Given the description of an element on the screen output the (x, y) to click on. 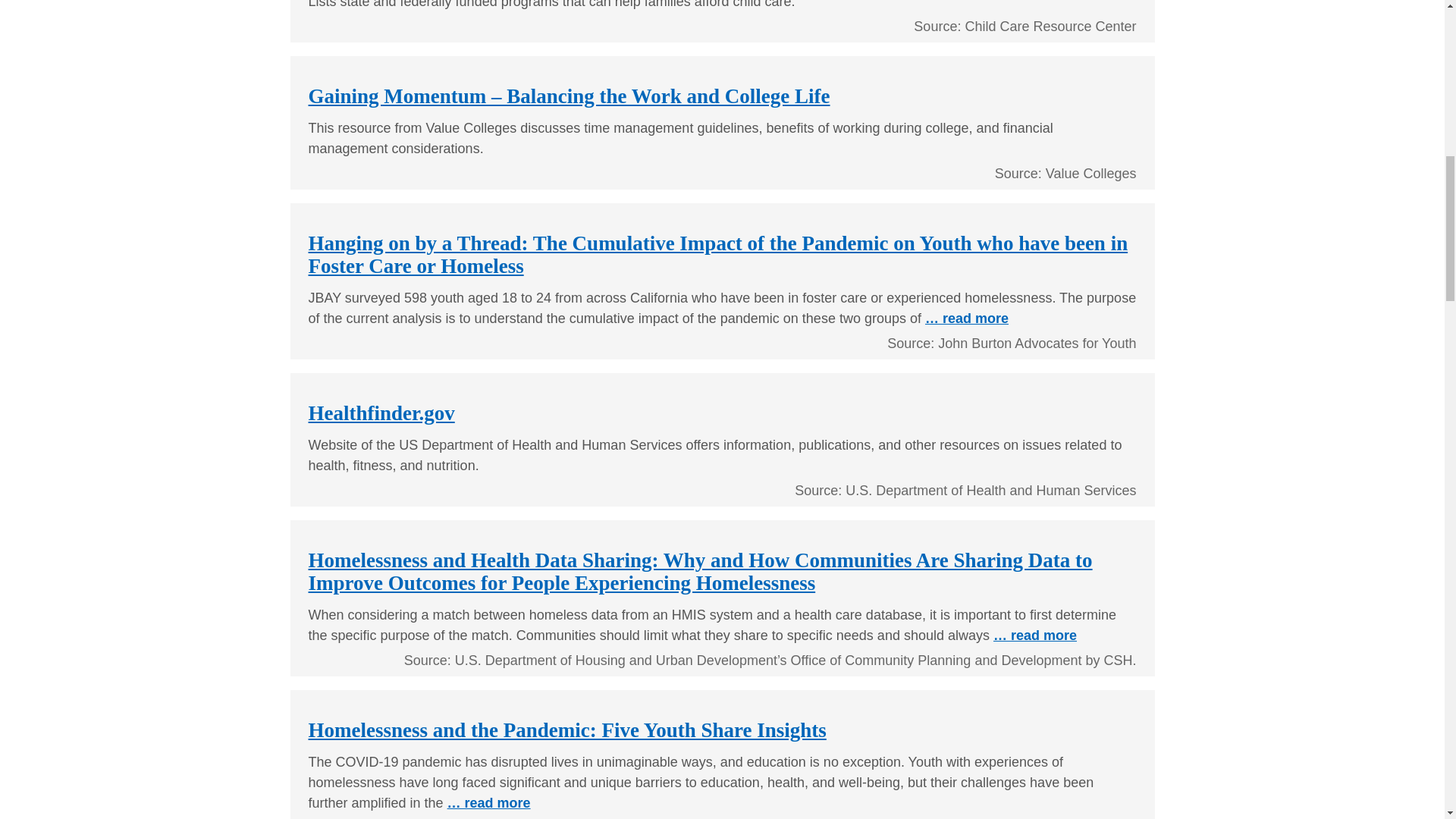
Homelessness and the Pandemic: Five Youth Share Insights (566, 730)
Healthfinder.gov (380, 413)
